Given the description of an element on the screen output the (x, y) to click on. 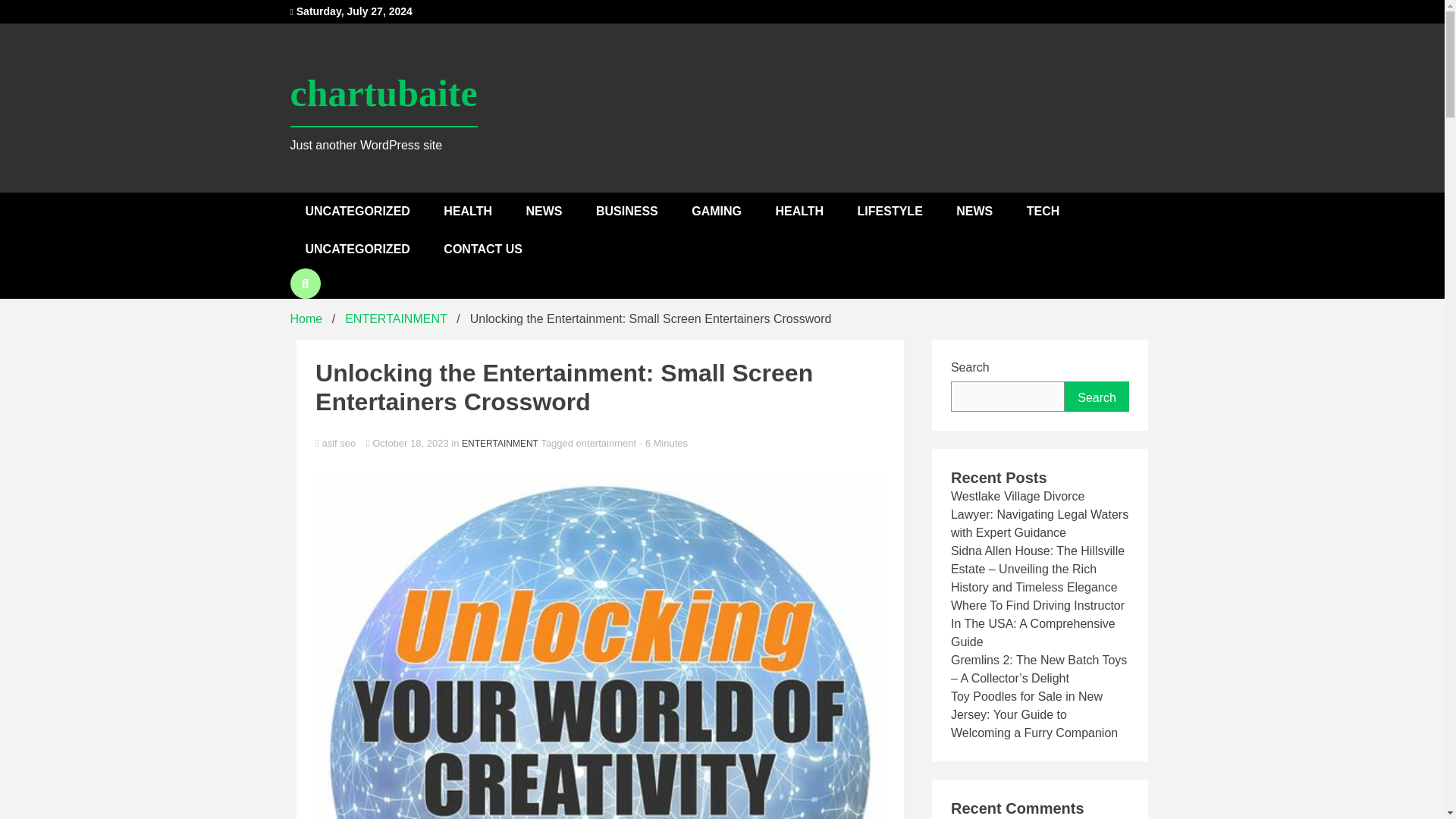
Home (305, 318)
ENTERTAINMENT (499, 443)
HEALTH (467, 211)
HEALTH (799, 211)
LIFESTYLE (890, 211)
NEWS (543, 211)
BUSINESS (626, 211)
asif seo (600, 443)
chartubaite (383, 94)
entertainment (606, 442)
TECH (1043, 211)
UNCATEGORIZED (357, 211)
ENTERTAINMENT (395, 318)
GAMING (717, 211)
CONTACT US (482, 249)
